Given the description of an element on the screen output the (x, y) to click on. 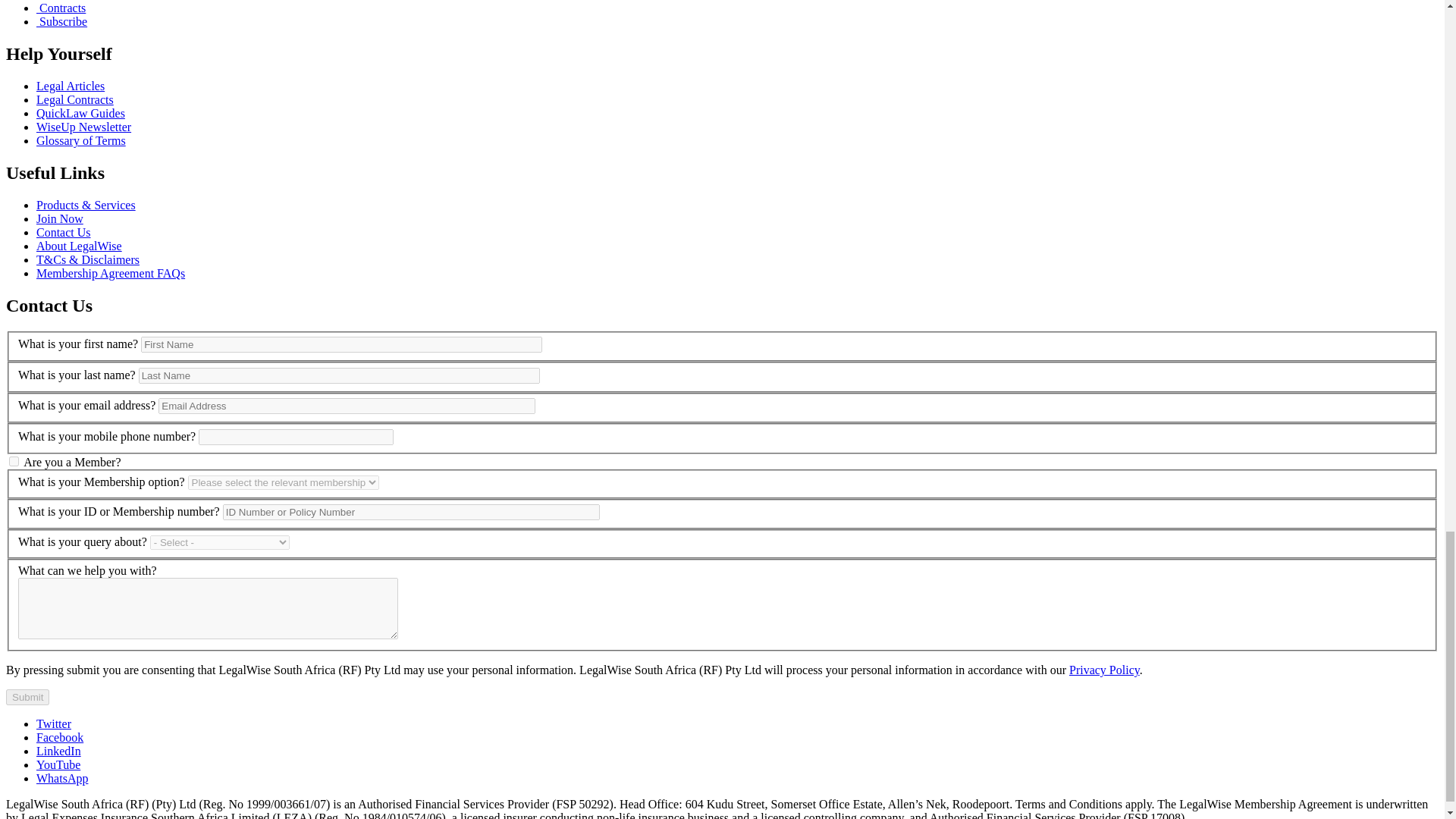
Contact LegalWise with any questions or queries. (63, 232)
Download free legal agreements. (74, 99)
Browse the benefits of joining the LegalWise family. (85, 205)
Read our WiseUp newsletter. (83, 126)
Browse our QuickLaw guides. (80, 113)
Join LegalWise to have the law on your side. (59, 218)
1 (13, 461)
Browse our legal articles. (70, 85)
Know your legal terms. (80, 140)
